Given the description of an element on the screen output the (x, y) to click on. 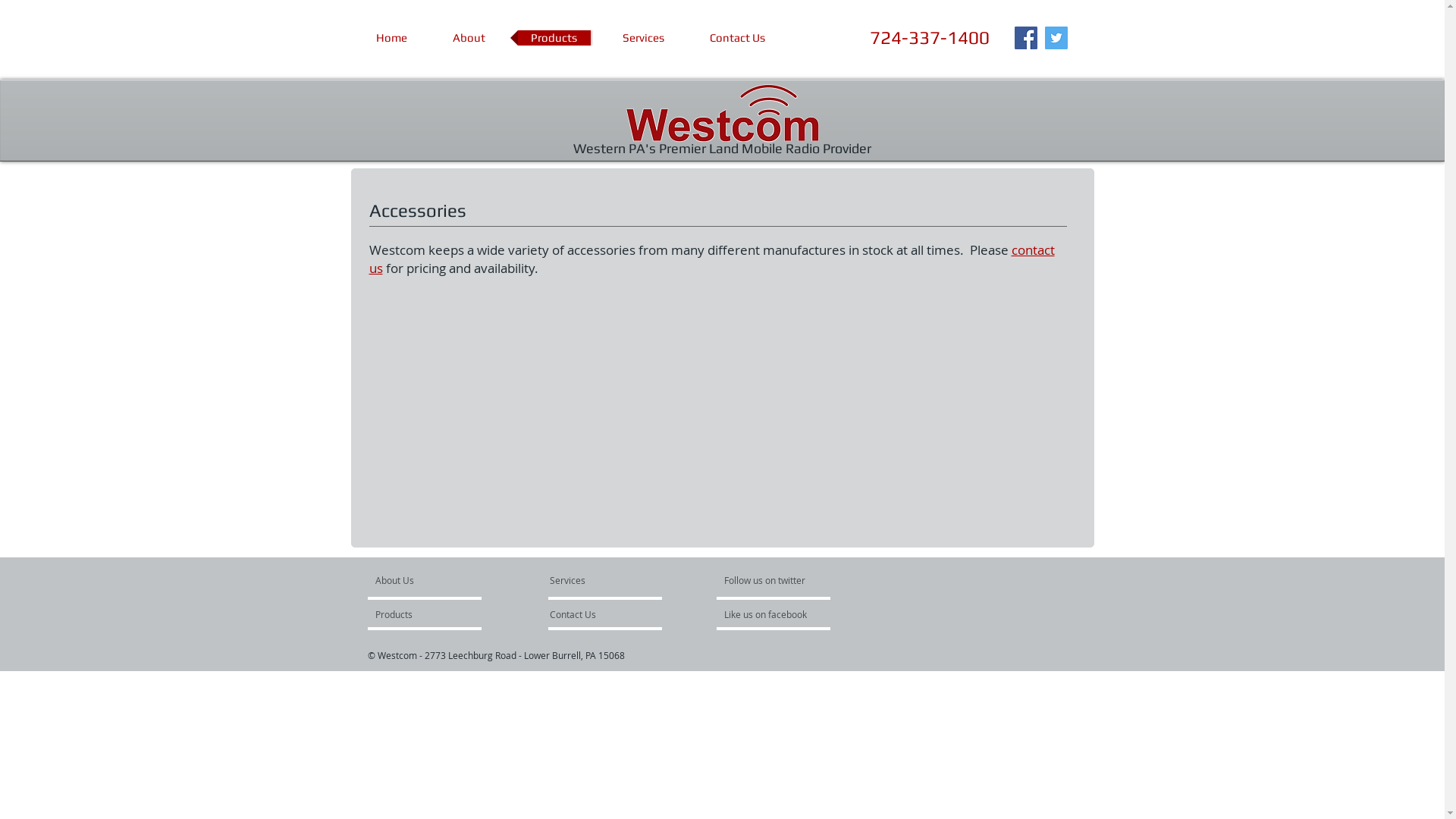
Follow us on twitter Element type: text (764, 579)
Home Element type: text (391, 37)
About Us Element type: text (432, 579)
Services Element type: text (643, 37)
Contact Us Element type: text (592, 613)
contact us Element type: text (711, 258)
Products Element type: text (417, 613)
Westcom Arial Hi Res white trim no background_edited.png Element type: hover (721, 118)
Like us on facebook Element type: text (768, 613)
Products Element type: text (553, 37)
Contact Us Element type: text (736, 37)
Services Element type: text (585, 579)
About Element type: text (469, 37)
